Given the description of an element on the screen output the (x, y) to click on. 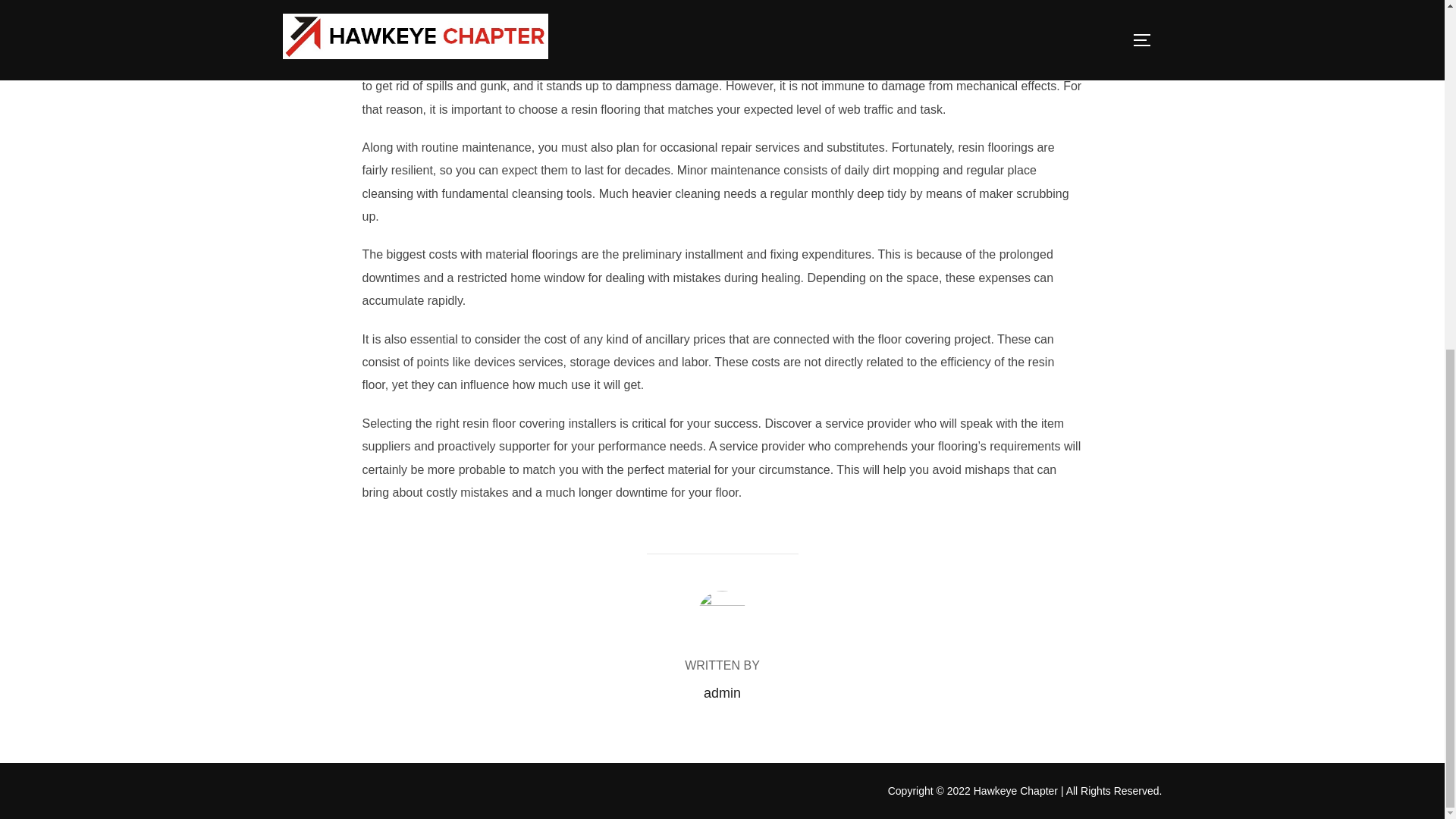
Posts by admin (722, 693)
admin (722, 693)
